Given the description of an element on the screen output the (x, y) to click on. 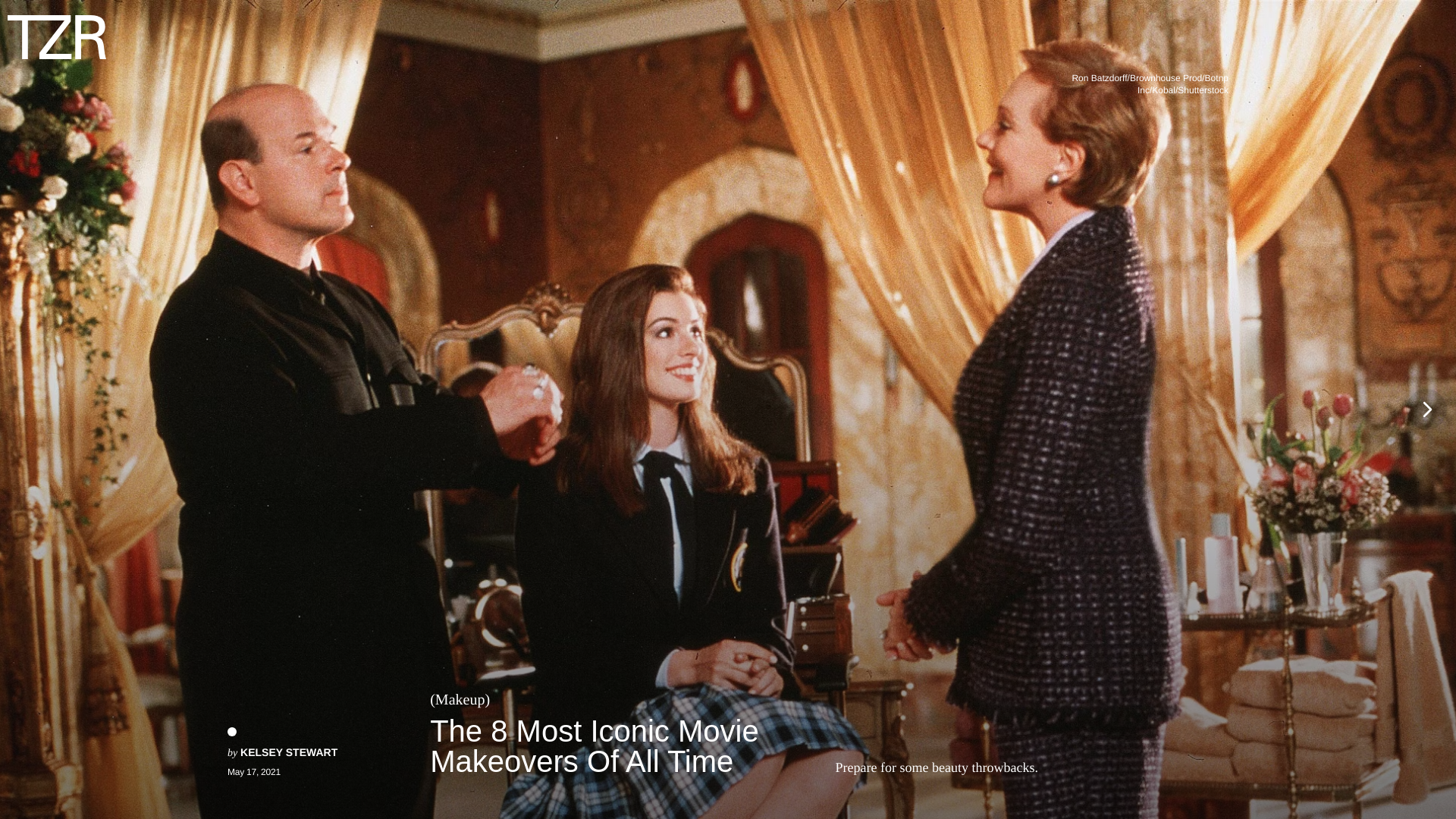
KELSEY STEWART (288, 752)
